Given the description of an element on the screen output the (x, y) to click on. 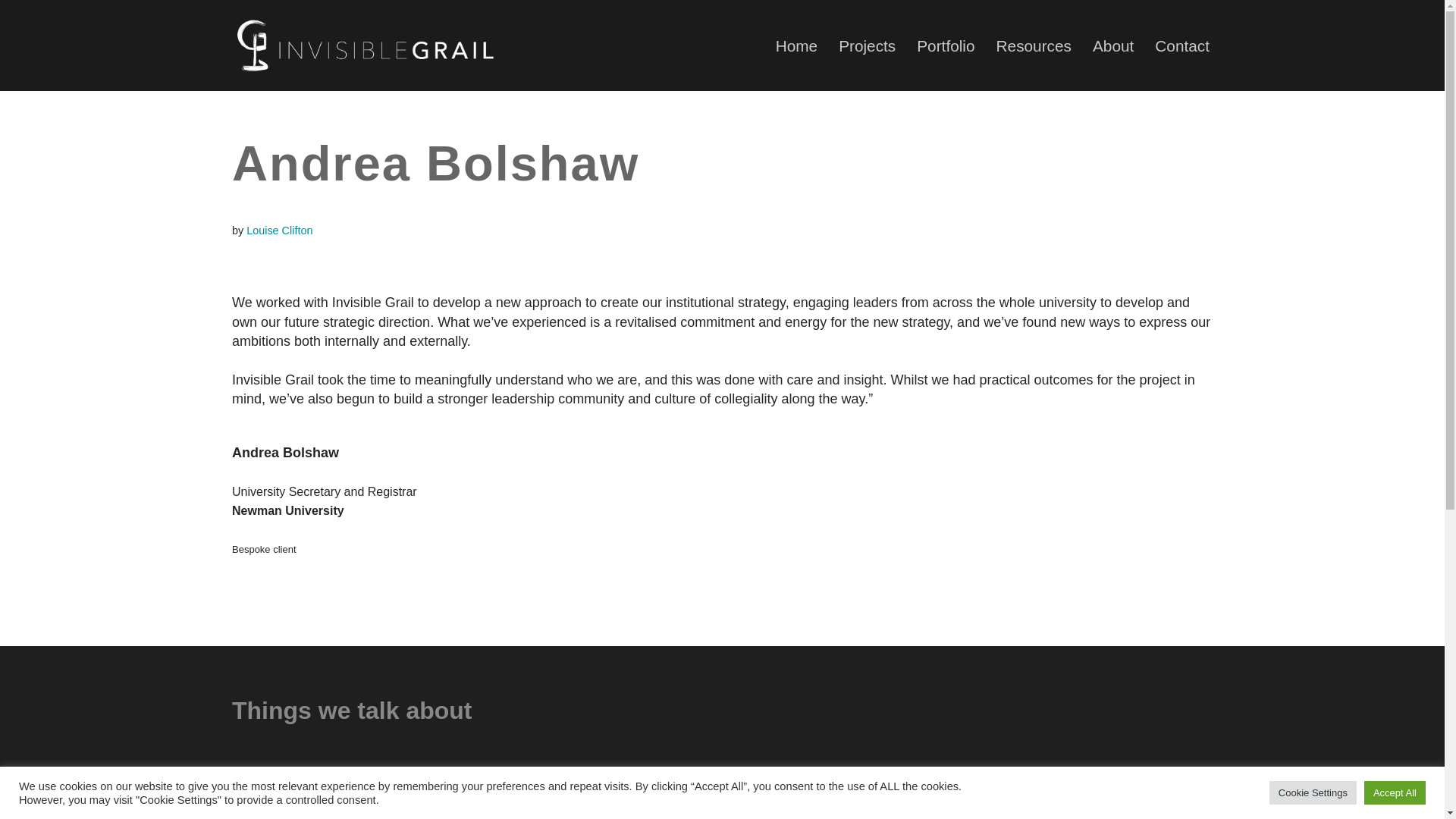
Cookie Settings (1312, 792)
Louise Clifton (279, 230)
Posts by Louise Clifton (279, 230)
Accept All (1394, 792)
About (1113, 45)
Resources (1033, 45)
Contact (1181, 45)
Home (796, 45)
Portfolio (945, 45)
Projects (866, 45)
